Given the description of an element on the screen output the (x, y) to click on. 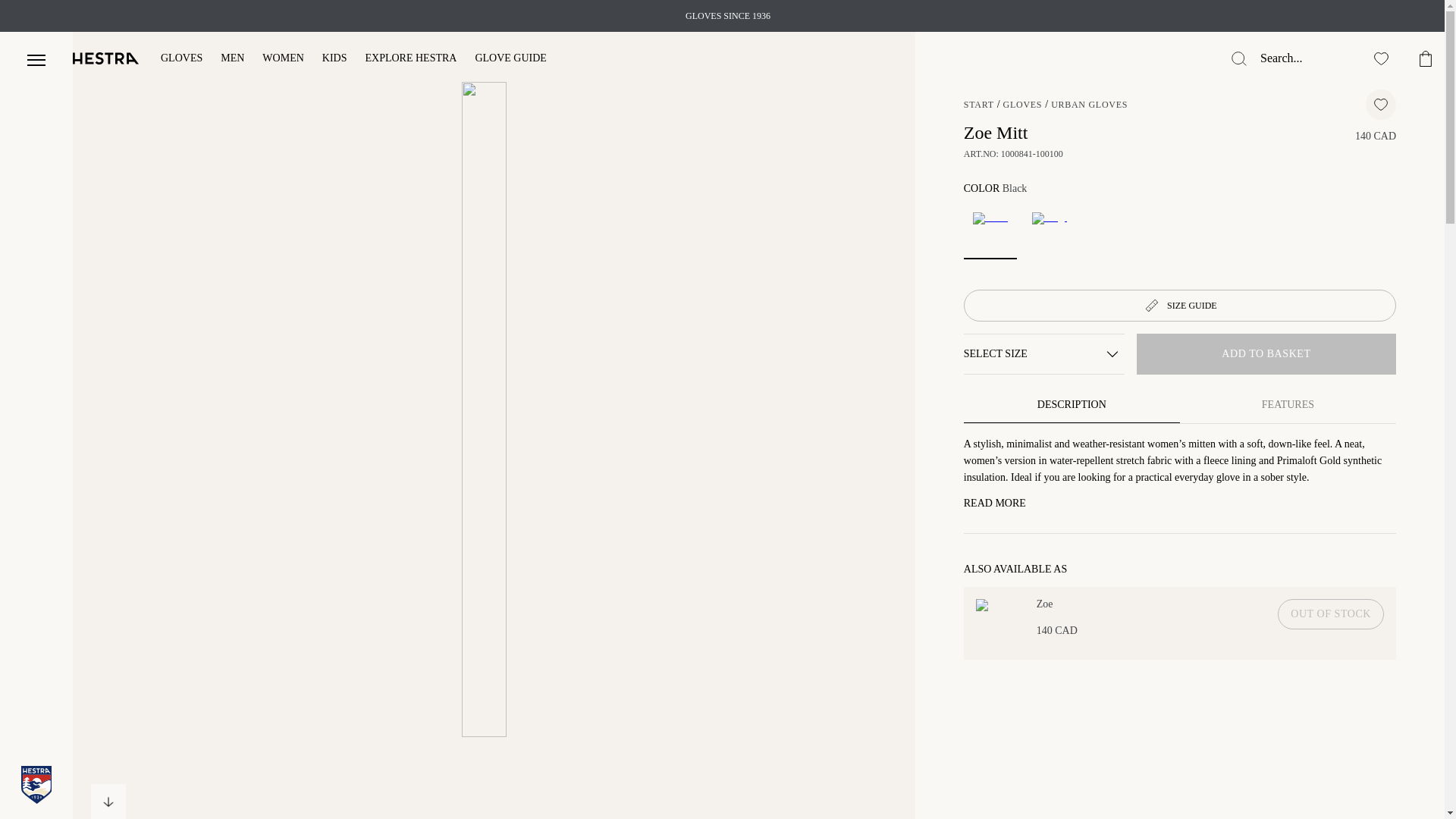
ADD TO BASKET (1266, 353)
MEN (232, 58)
DESCRIPTION (1071, 404)
READ MORE (994, 502)
WOMEN (282, 58)
START (978, 104)
OUT OF STOCK (1331, 613)
GLOVE GUIDE (510, 58)
FEATURES (1287, 404)
Zoe (1056, 603)
URBAN GLOVES (1088, 104)
Zoe (989, 604)
EXPLORE HESTRA (411, 58)
SIZE GUIDE (1179, 305)
GLOVES (1022, 104)
